Given the description of an element on the screen output the (x, y) to click on. 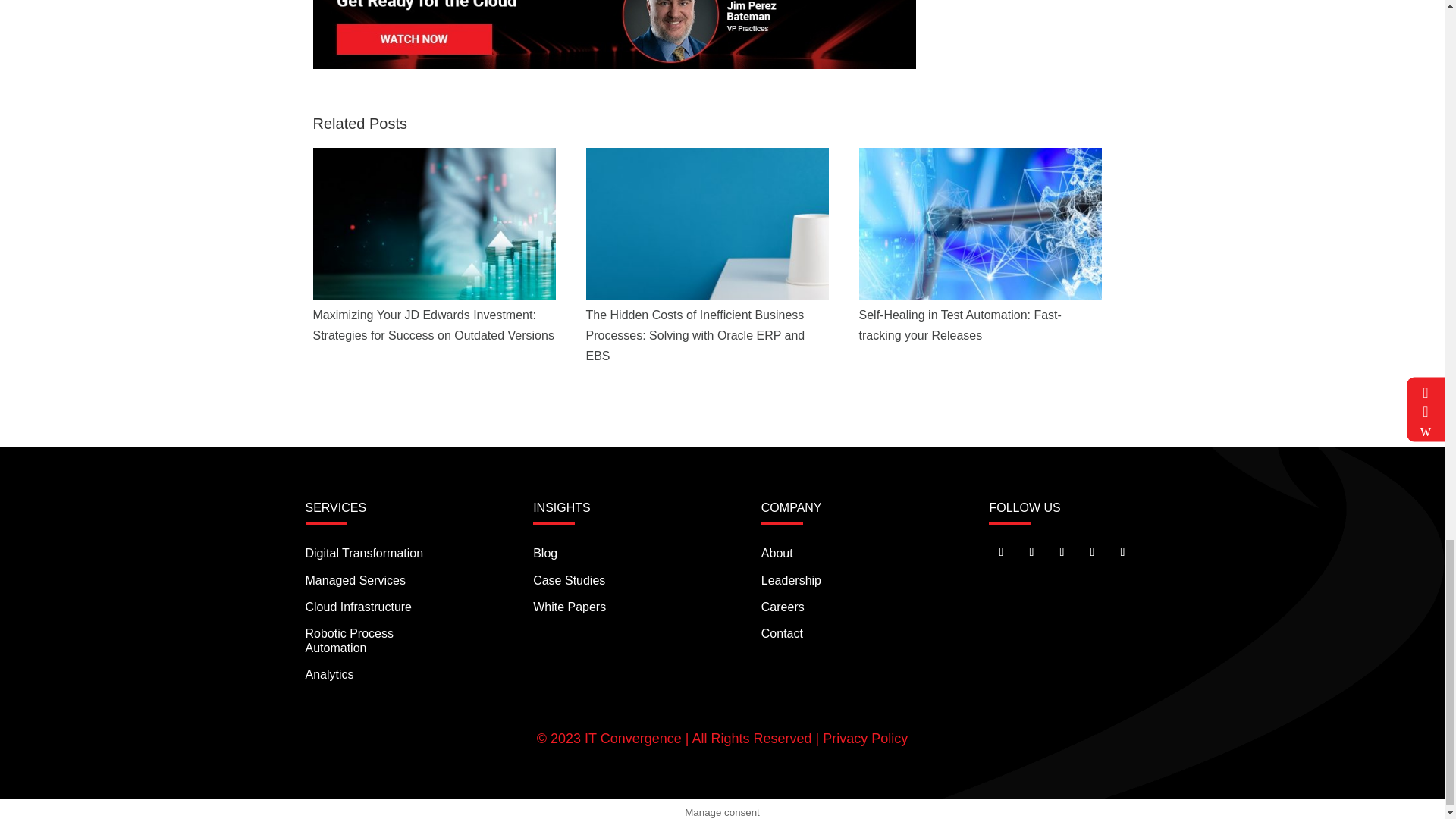
Follow on LinkedIn (1061, 551)
Follow on RSS (1121, 551)
Follow on Youtube (1091, 551)
Follow on Twitter (1000, 551)
Follow on Facebook (1031, 551)
